Given the description of an element on the screen output the (x, y) to click on. 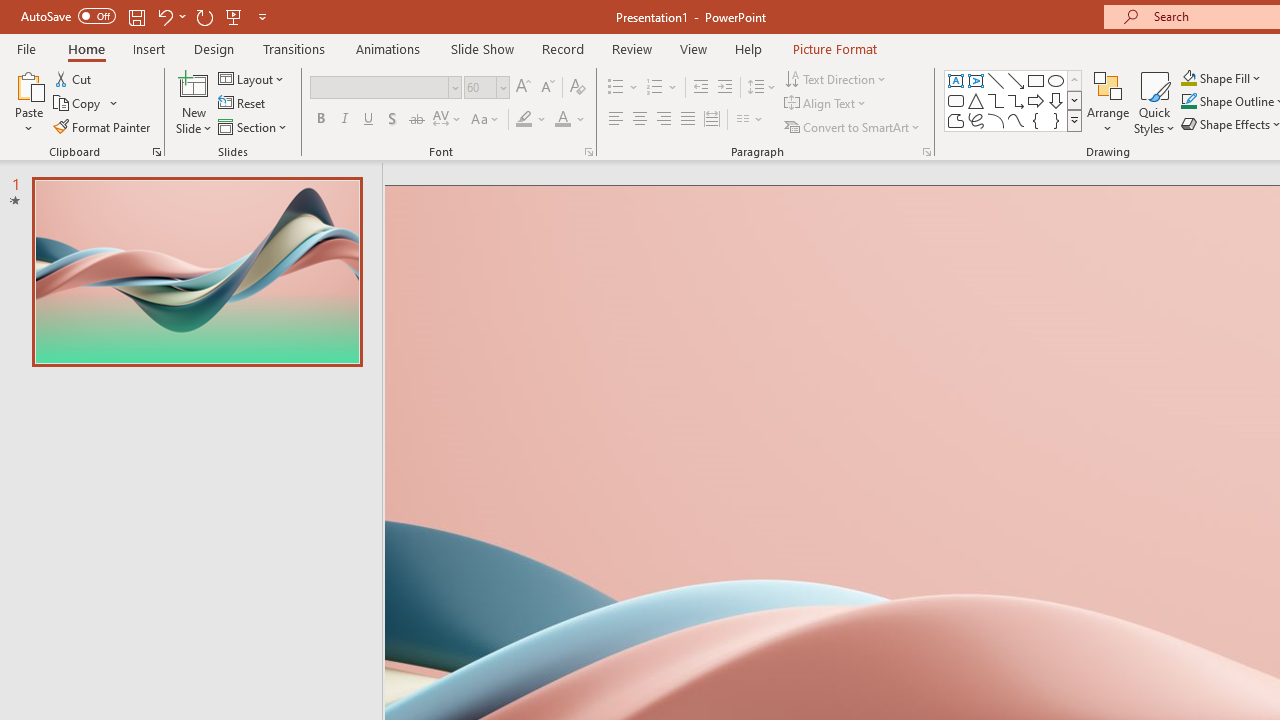
Picture Format (834, 48)
